Given the description of an element on the screen output the (x, y) to click on. 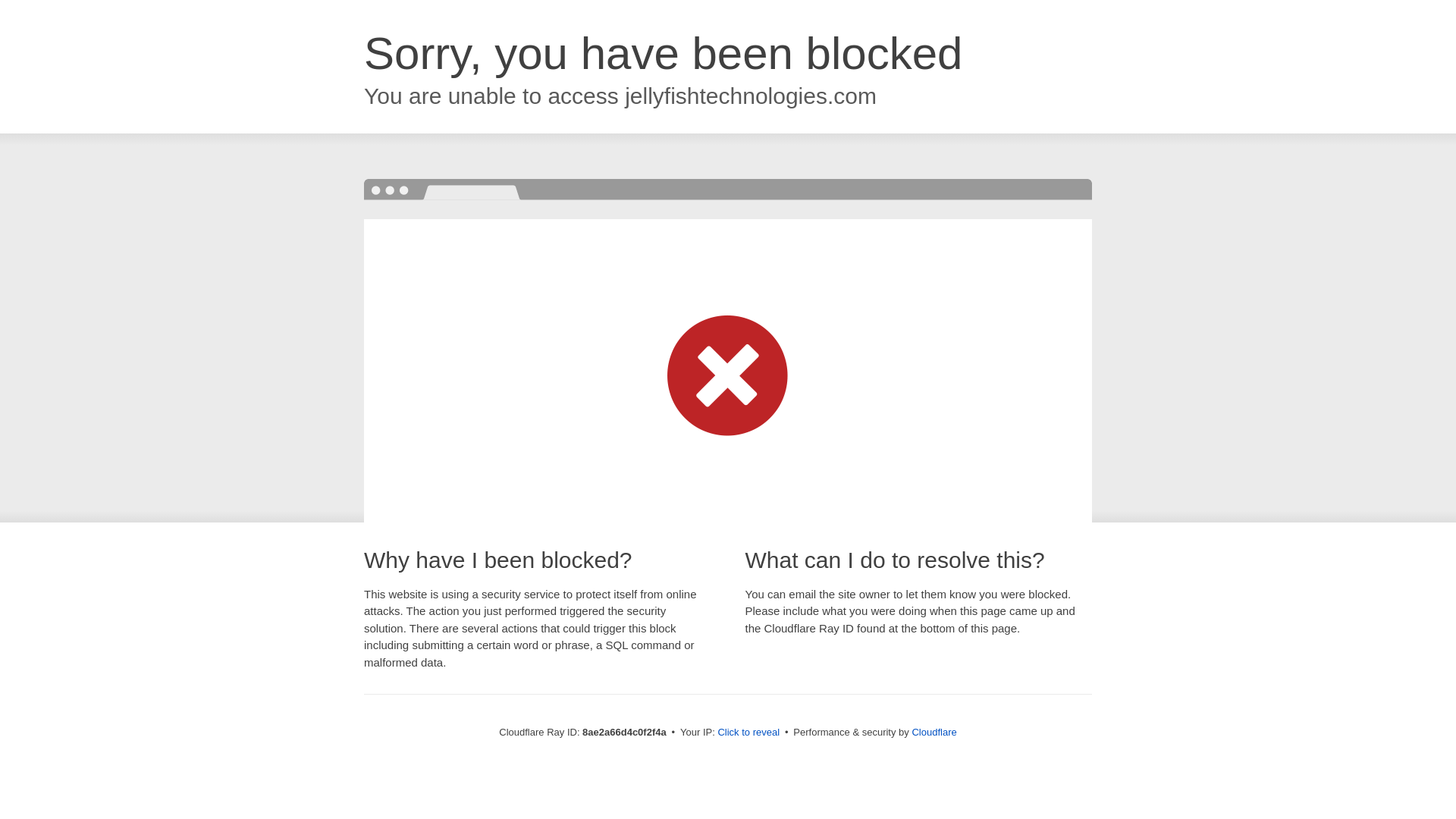
Cloudflare (933, 731)
Click to reveal (747, 732)
